Given the description of an element on the screen output the (x, y) to click on. 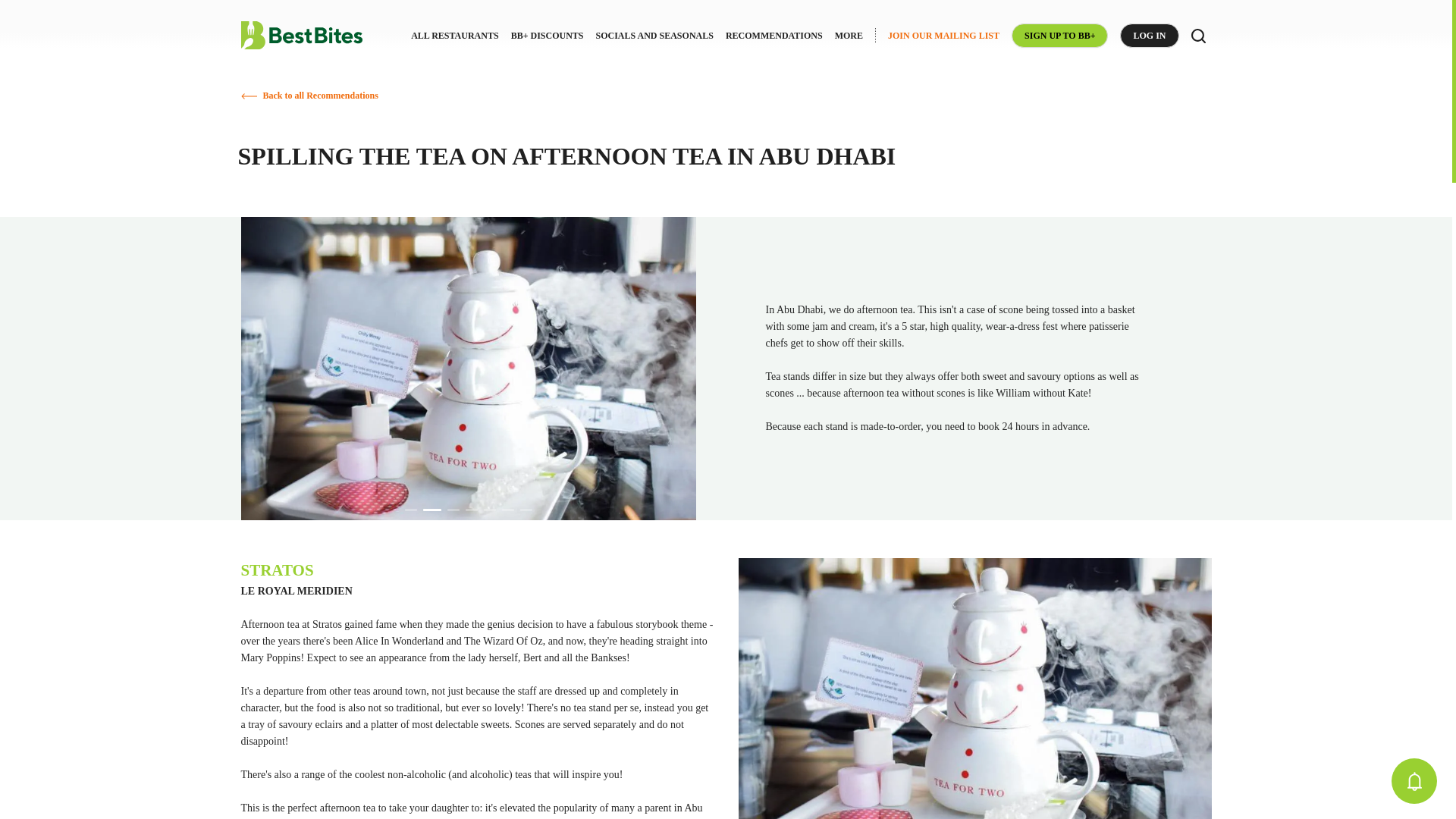
JOIN OUR MAILING LIST (943, 35)
Back to all Recommendations (319, 95)
LOG IN (1148, 35)
ALL RESTAURANTS (453, 35)
STRATOS (277, 570)
